Given the description of an element on the screen output the (x, y) to click on. 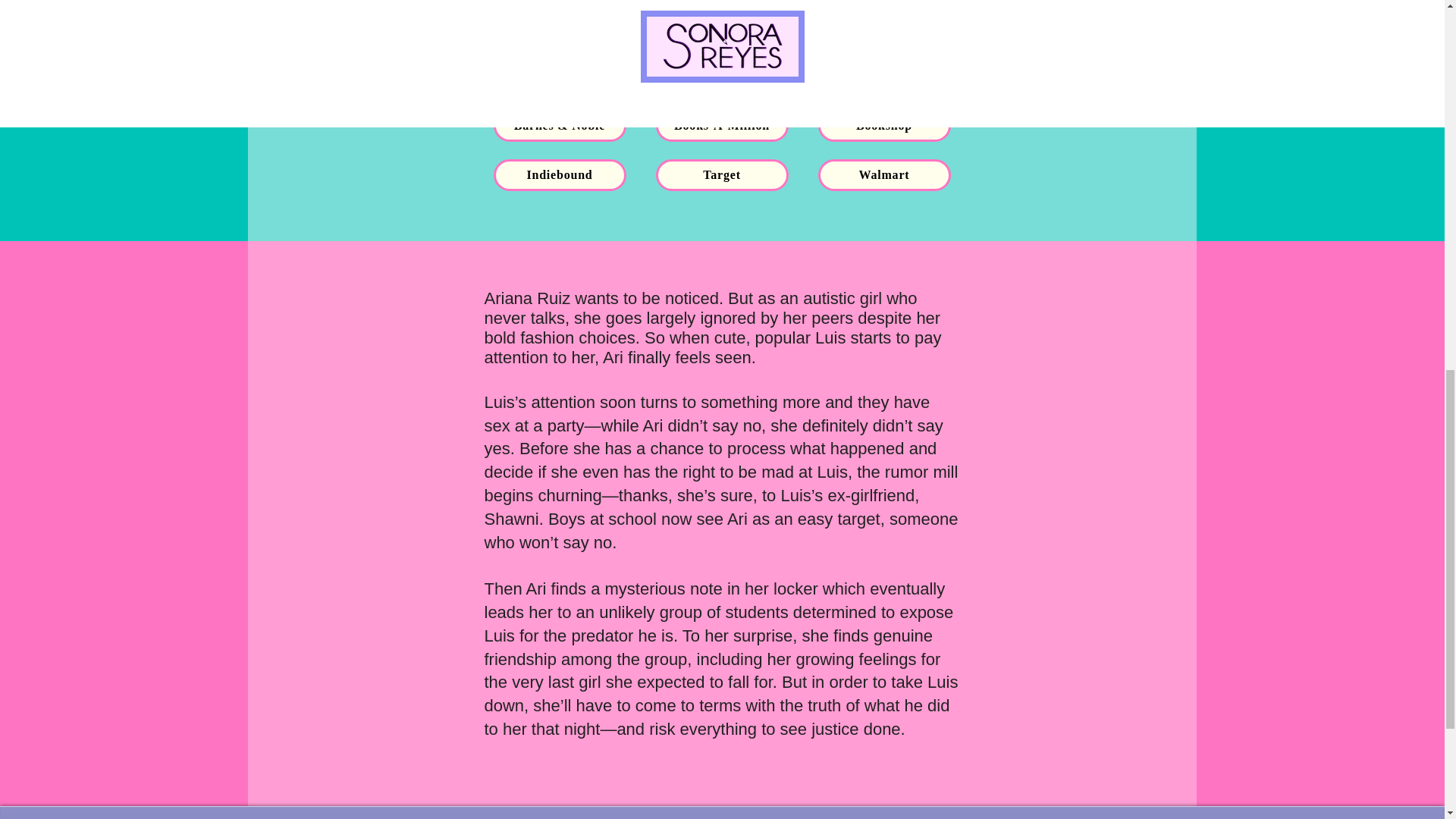
Books-A-Million (721, 125)
Indiebound (559, 174)
Target (721, 174)
Goodreads (559, 76)
Bookshop (883, 125)
Amazon (883, 76)
Walmart (883, 174)
HarperCollins (721, 76)
